Given the description of an element on the screen output the (x, y) to click on. 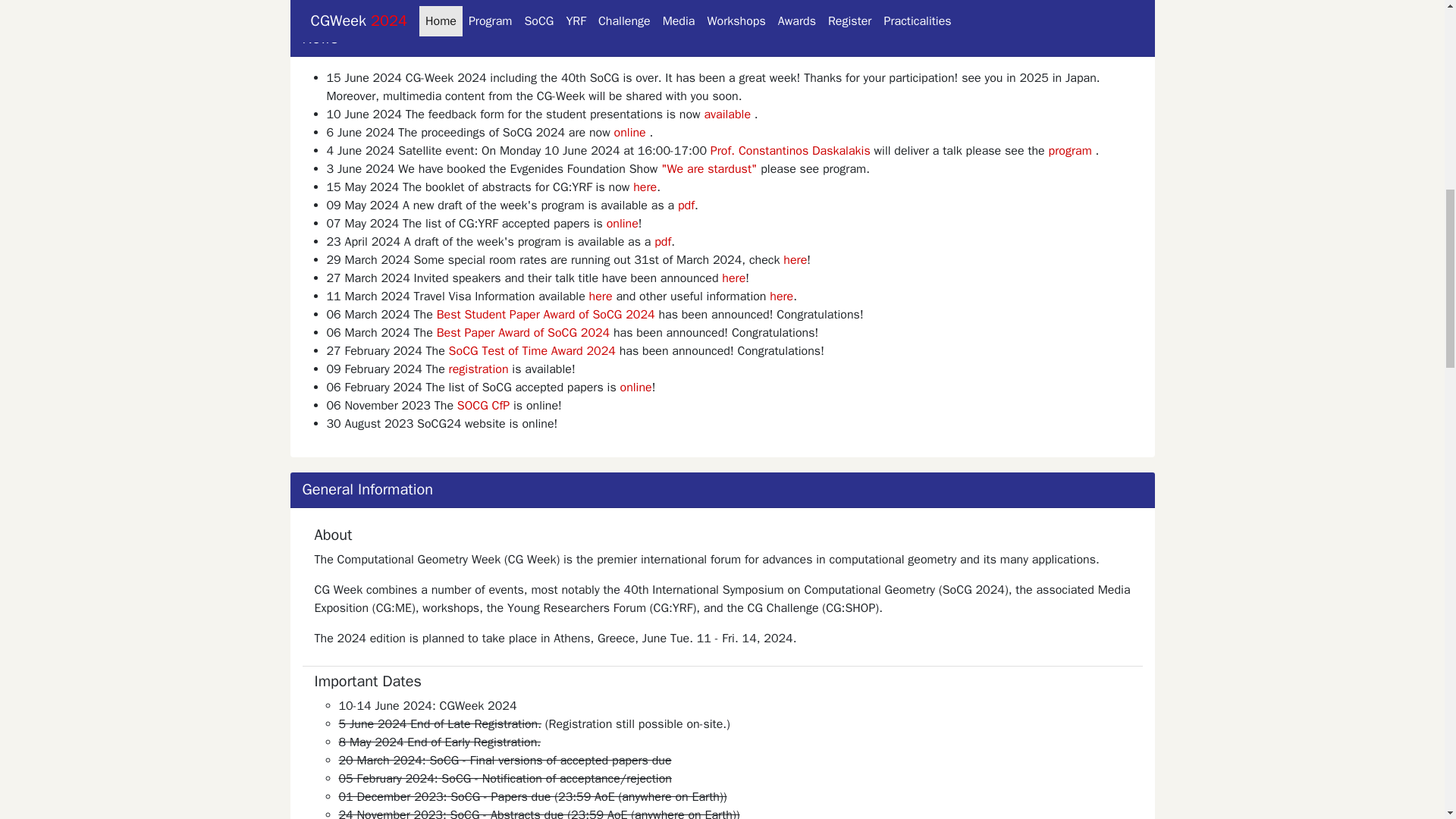
pdf (662, 241)
online (623, 223)
SoCG Test of Time Award 2024 (534, 350)
program (1070, 150)
here (733, 278)
online (636, 387)
Prof. Constantinos Daskalakis (790, 150)
here (794, 259)
registration (478, 368)
Best Paper Award of SoCG 2024 (523, 332)
available (727, 114)
here (644, 186)
pdf (686, 205)
online (630, 132)
here (600, 296)
